Given the description of an element on the screen output the (x, y) to click on. 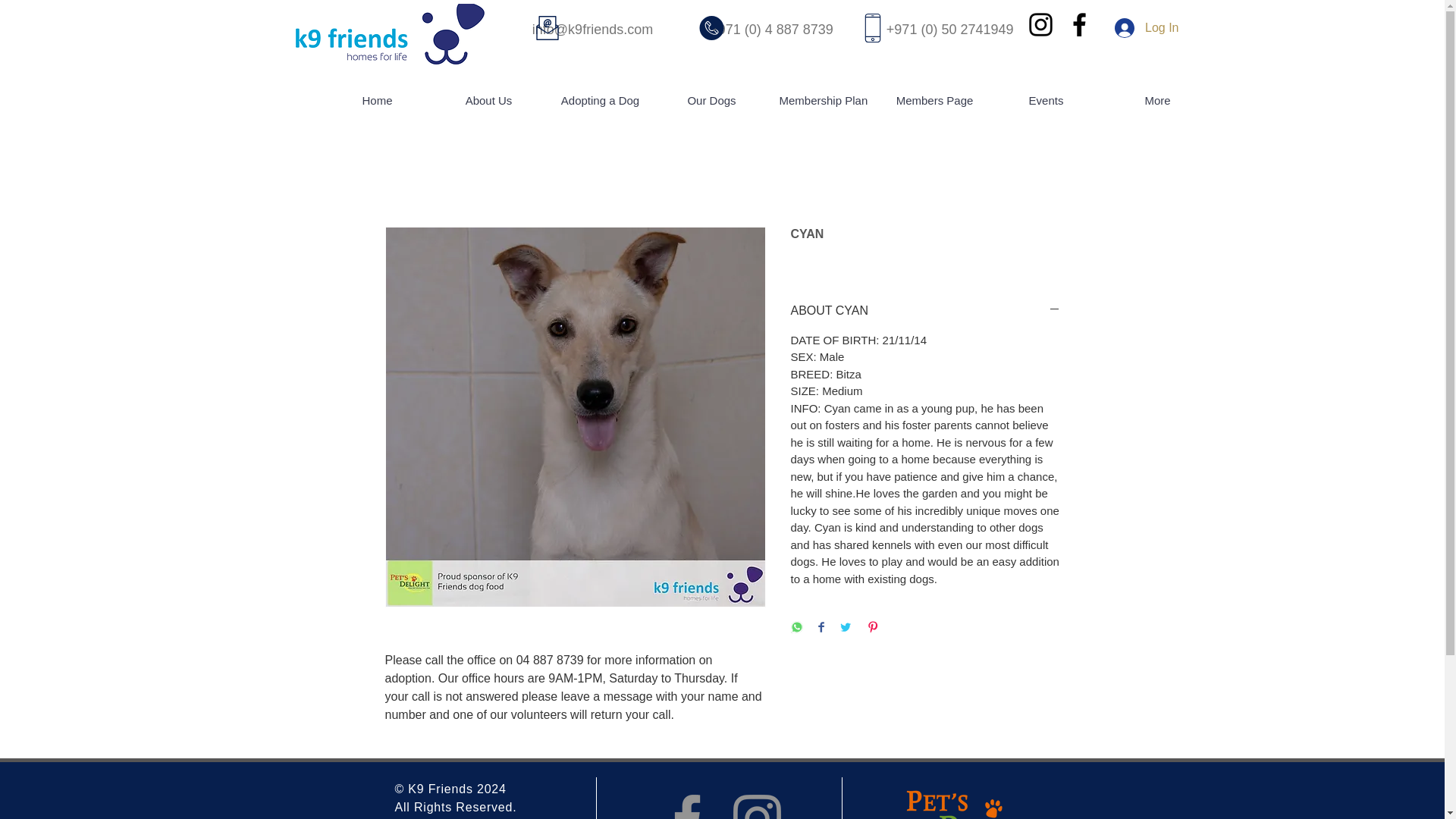
Log In (1146, 27)
Members Page (933, 101)
Our Dogs (711, 101)
Adopting a Dog (600, 101)
Events (1046, 101)
Home (376, 101)
Membership Plan (823, 101)
About Us (487, 101)
ABOUT CYAN (924, 310)
